Given the description of an element on the screen output the (x, y) to click on. 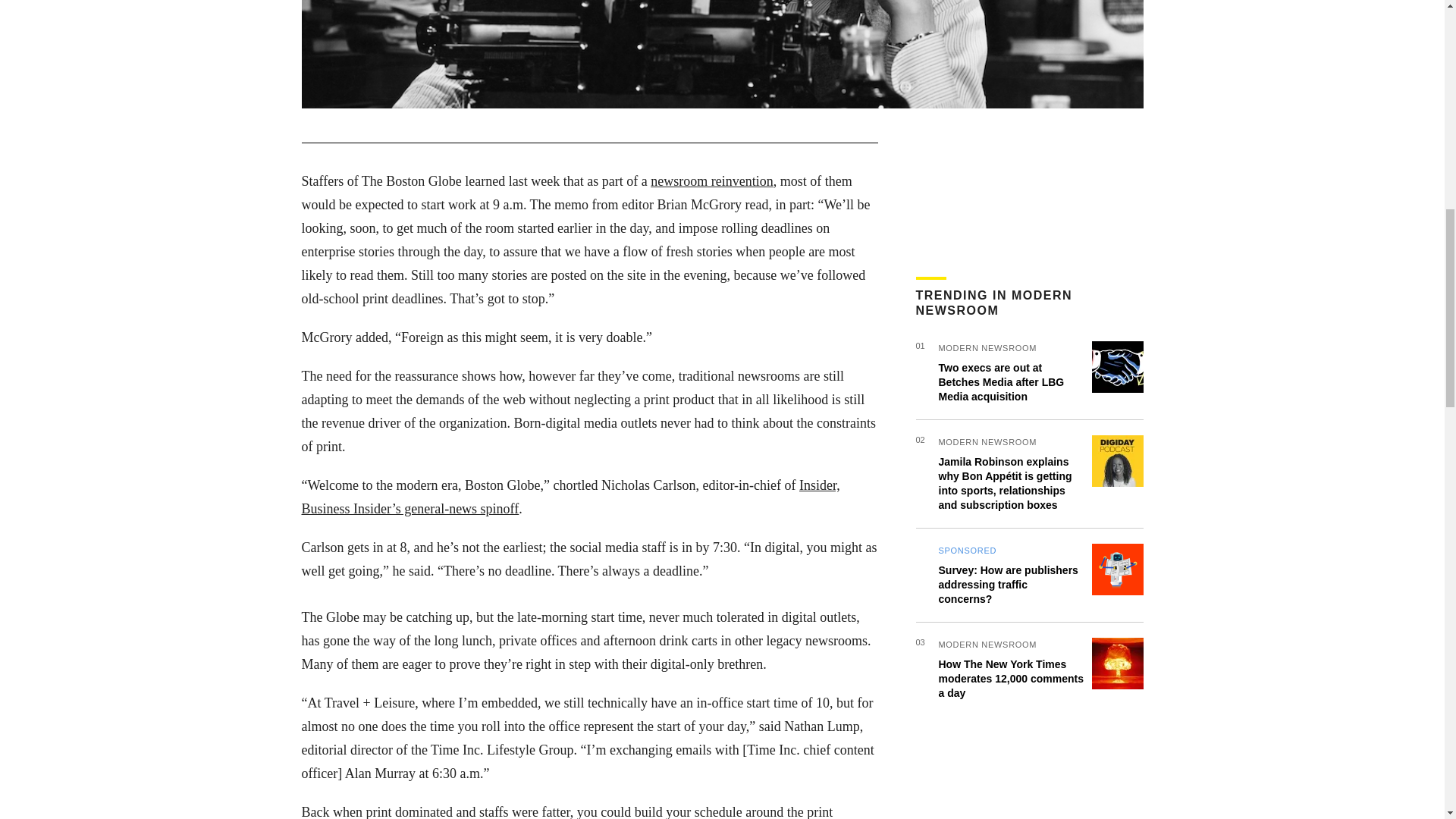
How The New York Times moderates 12,000 comments a day (1011, 678)
